Given the description of an element on the screen output the (x, y) to click on. 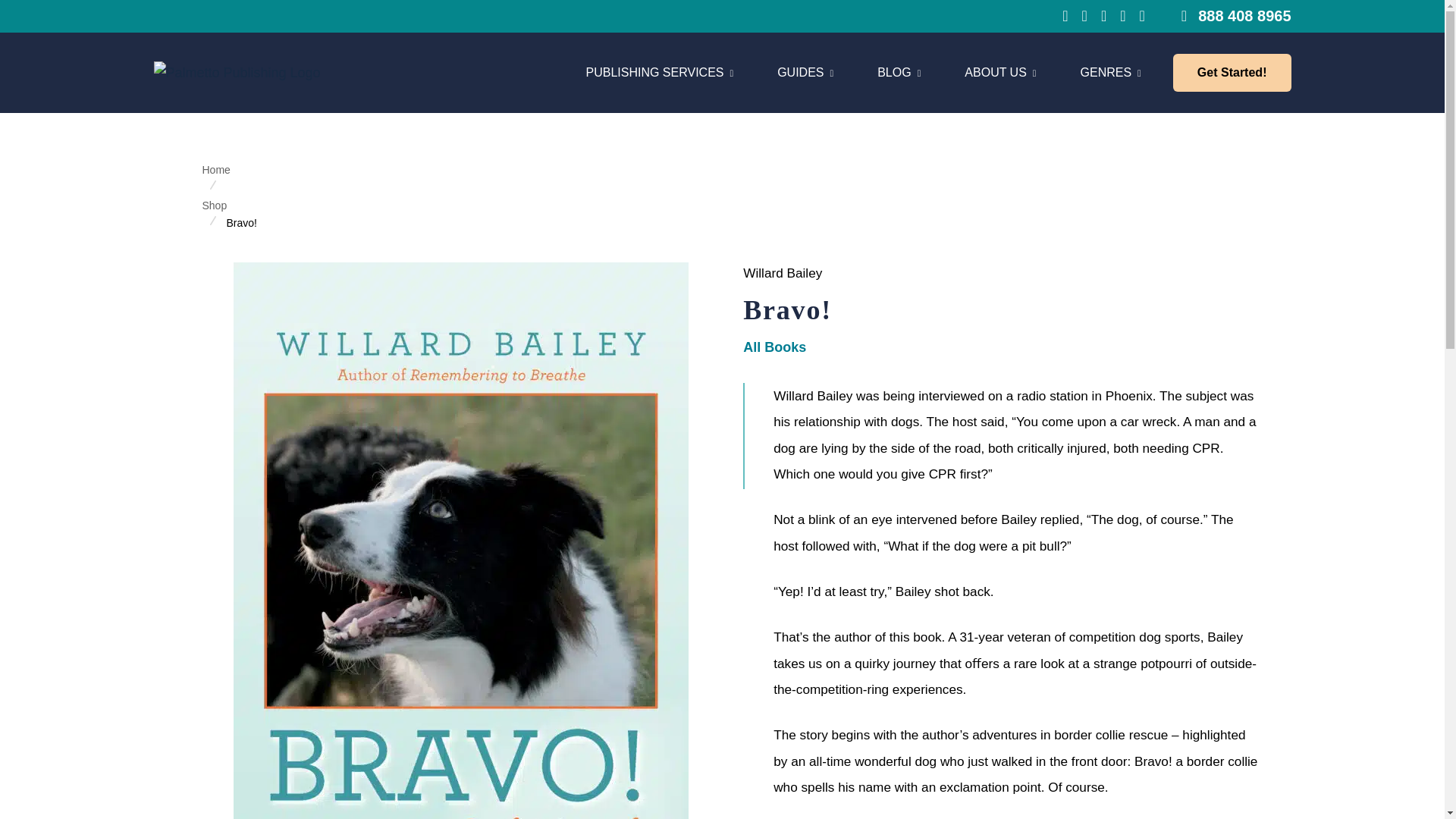
888 408 8965 (1235, 15)
ABOUT US (1000, 72)
PUBLISHING SERVICES (866, 72)
GUIDES (659, 72)
BLOG (804, 72)
Skip Navigation (899, 72)
